Given the description of an element on the screen output the (x, y) to click on. 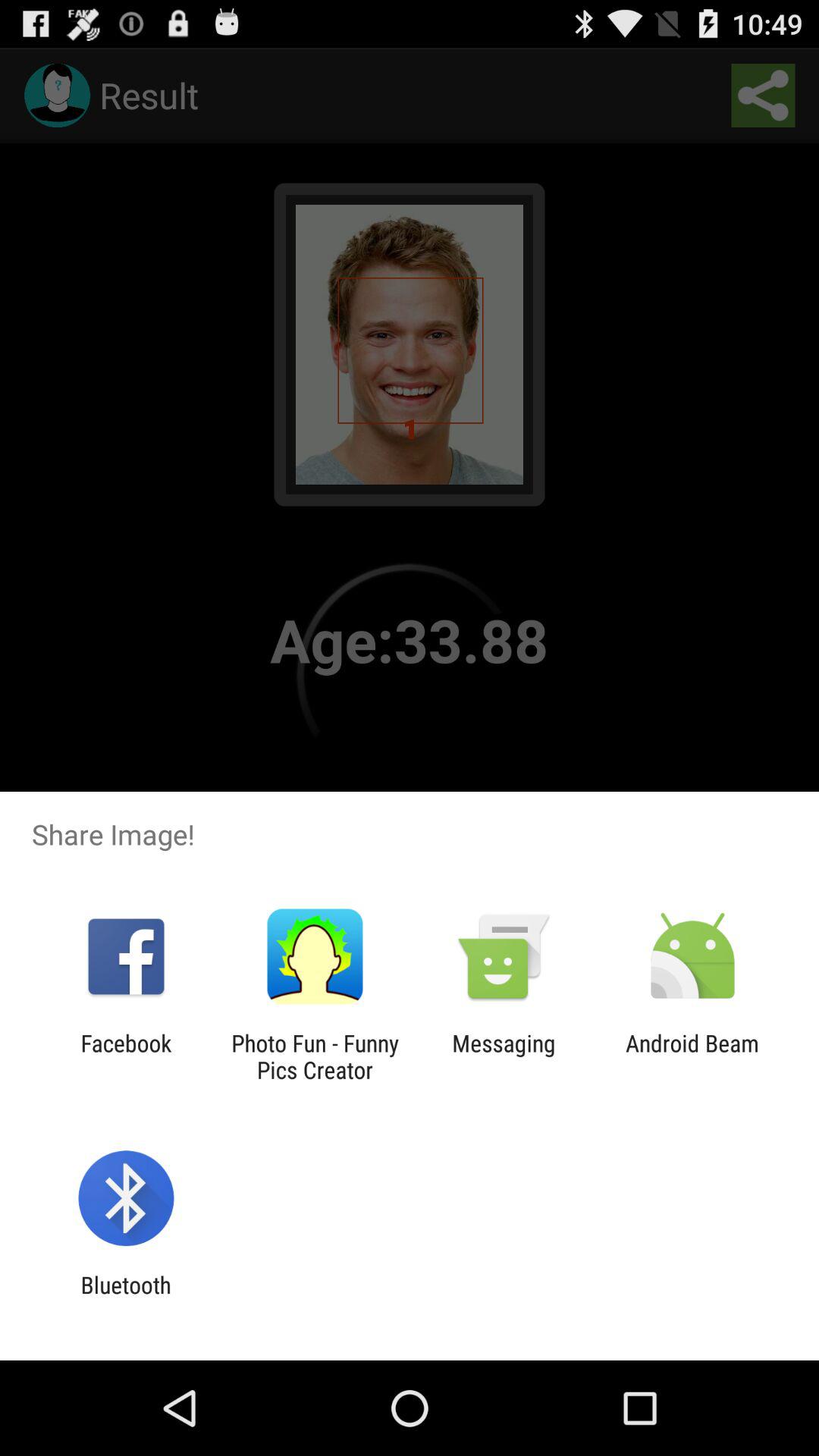
jump to bluetooth (125, 1298)
